Given the description of an element on the screen output the (x, y) to click on. 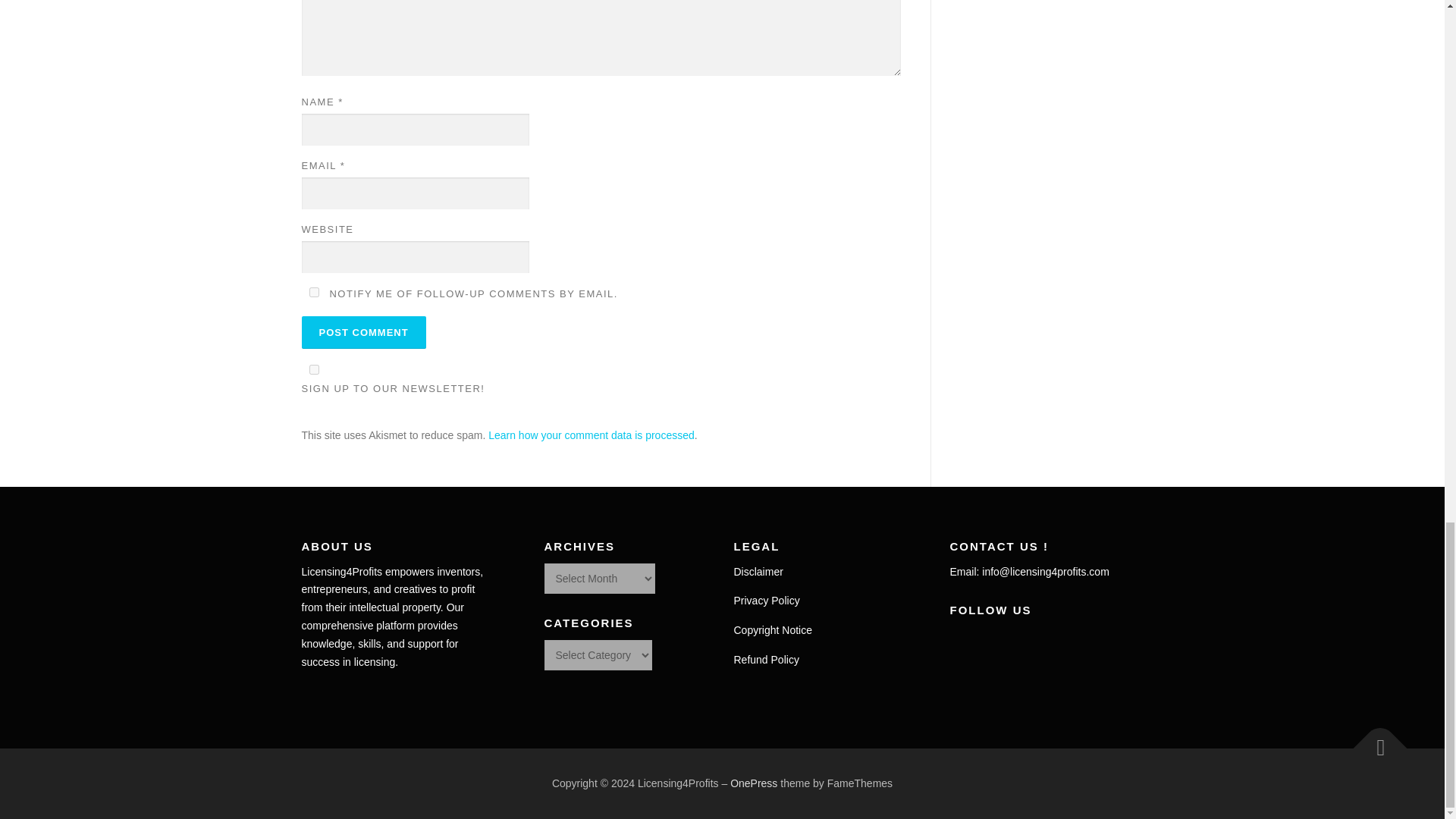
Post Comment (363, 332)
subscribe (313, 292)
1 (313, 369)
